Given the description of an element on the screen output the (x, y) to click on. 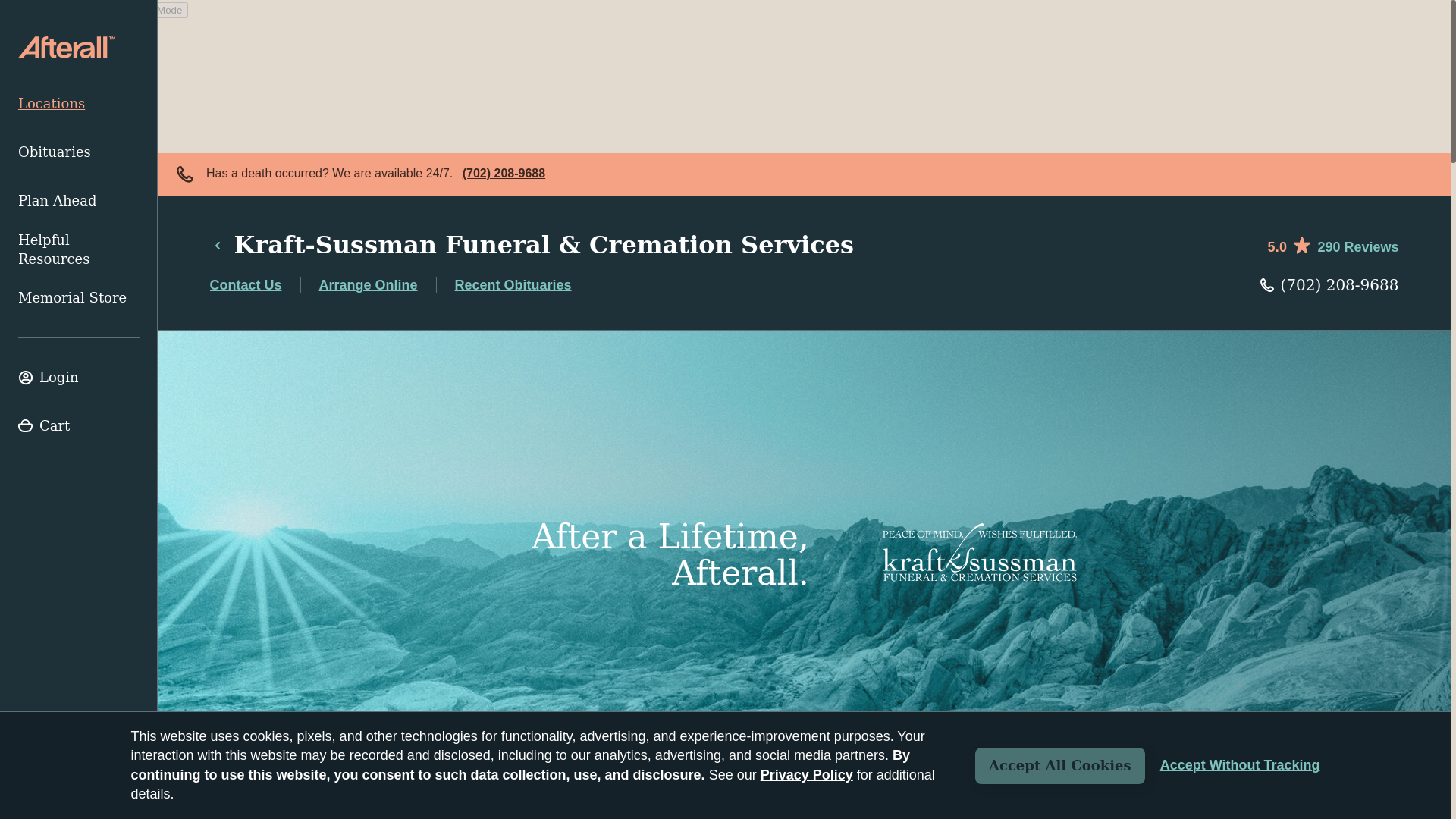
290 Reviews (1357, 246)
Accept All Cookies (1059, 765)
Arrange Online (367, 285)
Recent Obituaries (513, 285)
Memorial Store (78, 297)
Location rating (1331, 244)
Helpful Resources (78, 249)
Login (78, 377)
Cart (78, 426)
Contact Us (245, 285)
Accept Without Tracking (1240, 765)
Obituaries (78, 151)
Home page (66, 47)
Sign In (78, 377)
View your cart (78, 426)
